Given the description of an element on the screen output the (x, y) to click on. 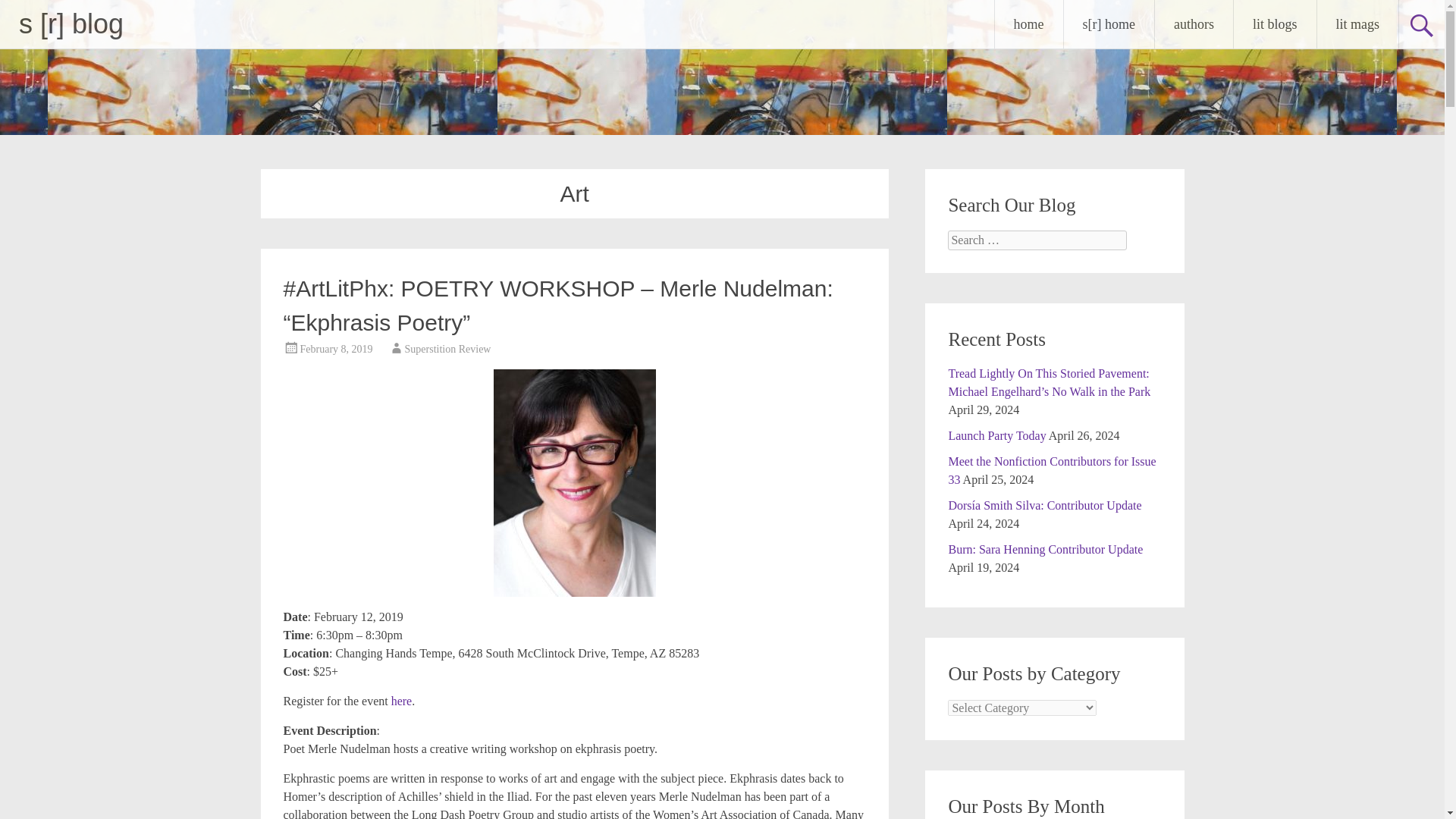
February 8, 2019 (335, 348)
home (1028, 24)
authors (1193, 24)
lit mags (1356, 24)
lit blogs (1274, 24)
Superstition Review (448, 348)
here (401, 700)
